Given the description of an element on the screen output the (x, y) to click on. 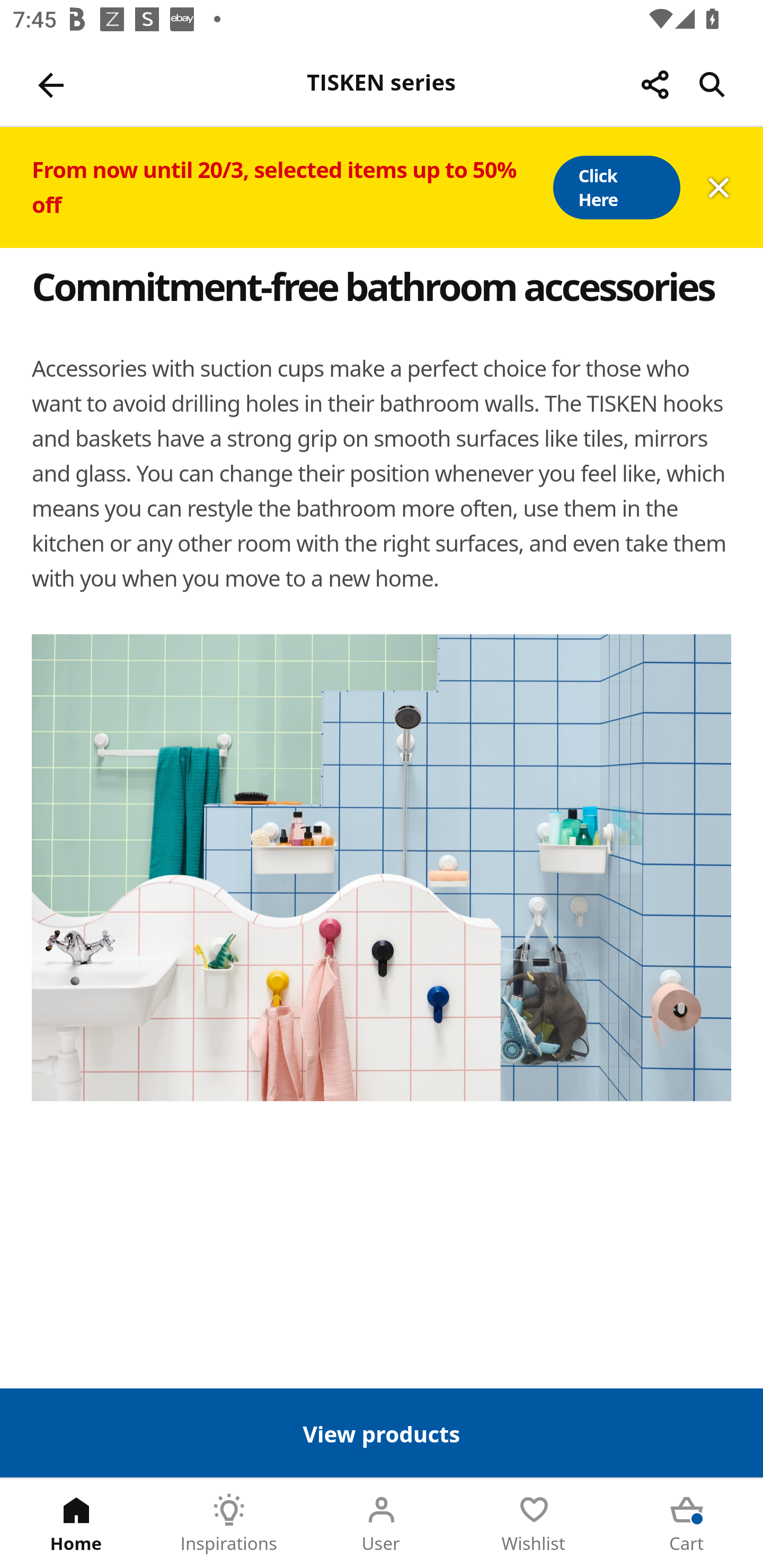
Click Here (615, 187)
View products (381, 1432)
Home
Tab 1 of 5 (76, 1522)
Inspirations
Tab 2 of 5 (228, 1522)
User
Tab 3 of 5 (381, 1522)
Wishlist
Tab 4 of 5 (533, 1522)
Cart
Tab 5 of 5 (686, 1522)
